Given the description of an element on the screen output the (x, y) to click on. 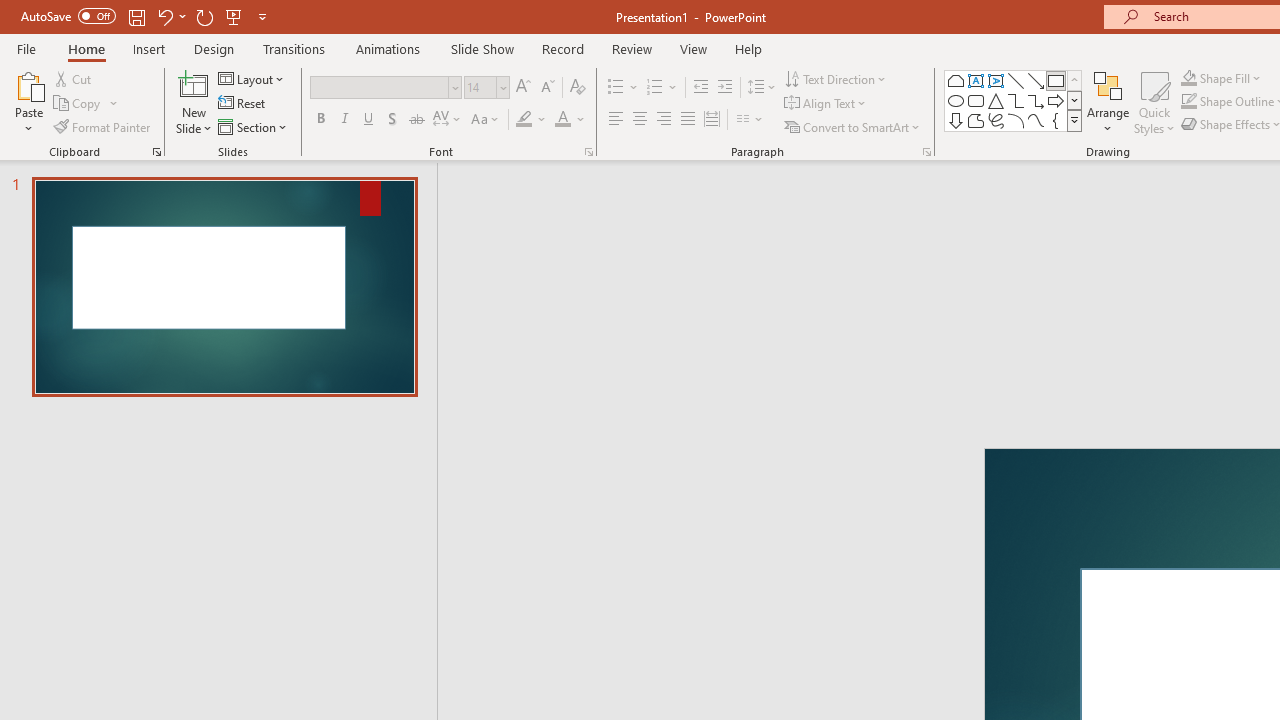
Shape Outline Blue, Accent 1 (1188, 101)
